Given the description of an element on the screen output the (x, y) to click on. 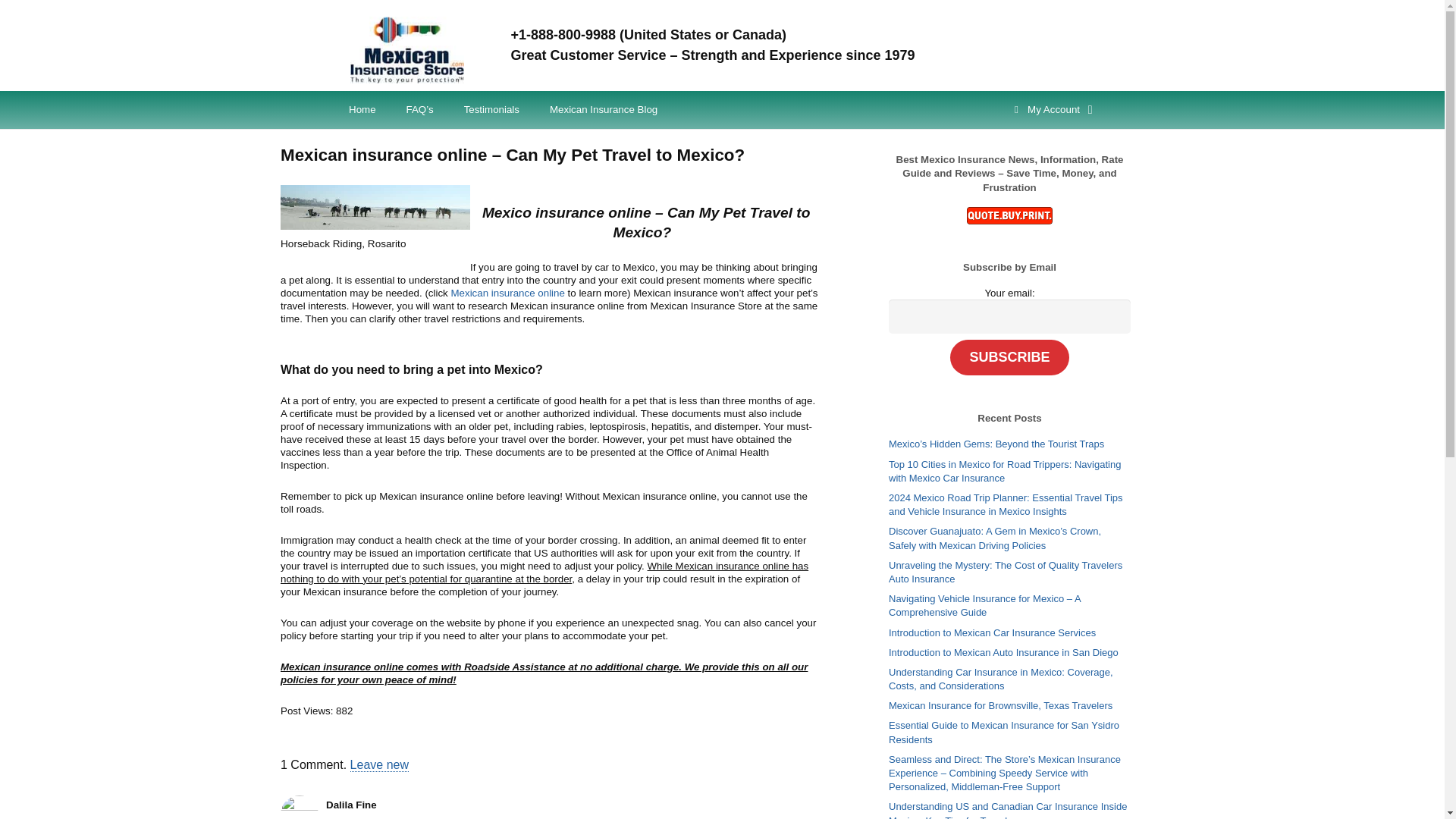
Introduction to Mexican Car Insurance Services (992, 632)
Mexican Insurance Blog (603, 109)
Mexican insurance online (506, 292)
Horseback riding, Rosarito (375, 207)
Subscribe (1009, 357)
Leave new (379, 765)
Mexican Insurance for Brownsville, Texas Travelers (1000, 705)
Home (362, 109)
Subscribe (1009, 357)
Testimonials (491, 109)
